Given the description of an element on the screen output the (x, y) to click on. 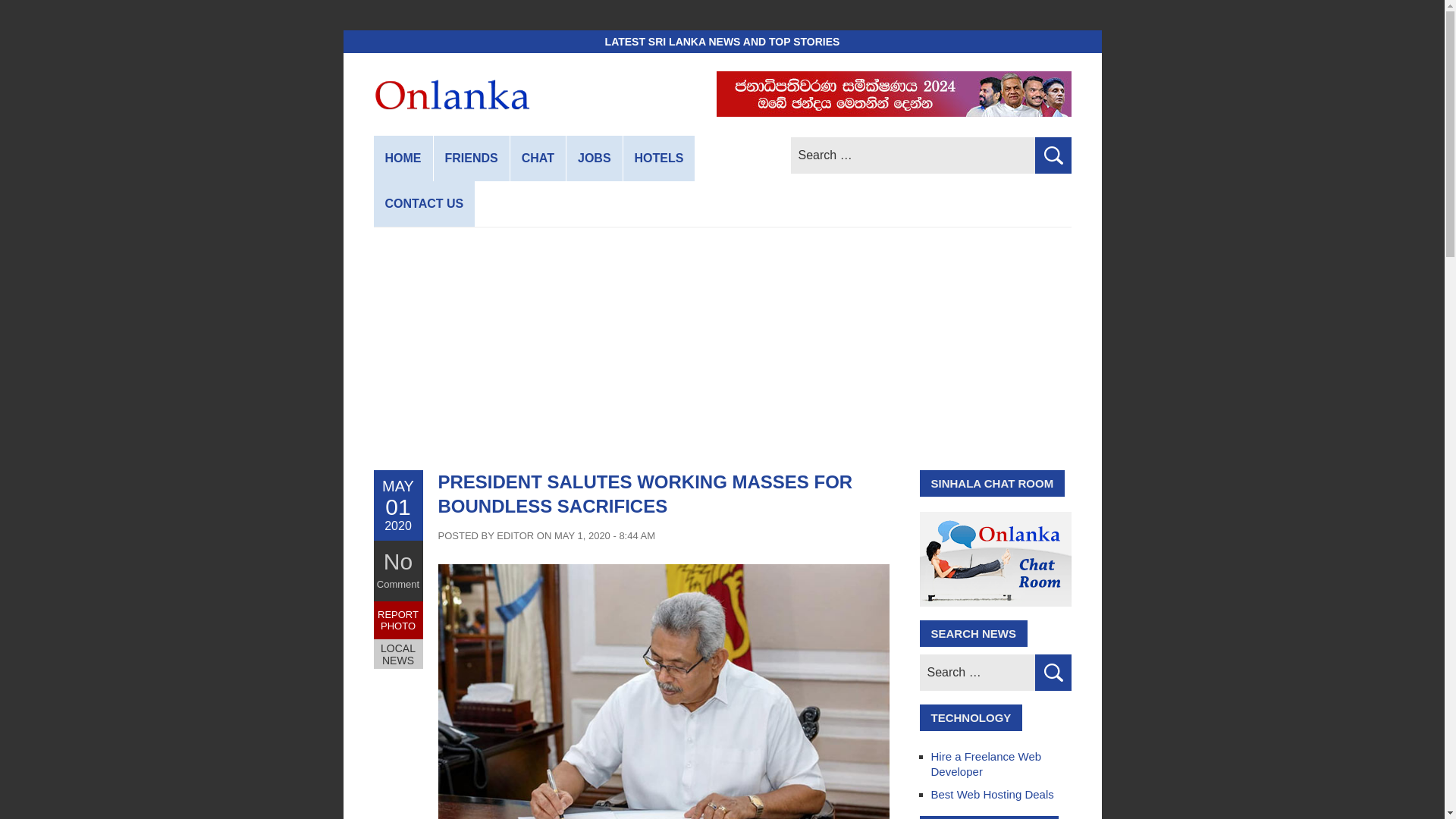
CHAT (538, 157)
Best Web Hosting Deals (992, 793)
Search (1051, 672)
REPORT PHOTO (397, 620)
HOTELS (659, 157)
JOBS (594, 157)
Work From Home Jobs for Freelance Workers (594, 157)
No (397, 560)
Sri Lanka chat (538, 157)
Search (1051, 672)
